Given the description of an element on the screen output the (x, y) to click on. 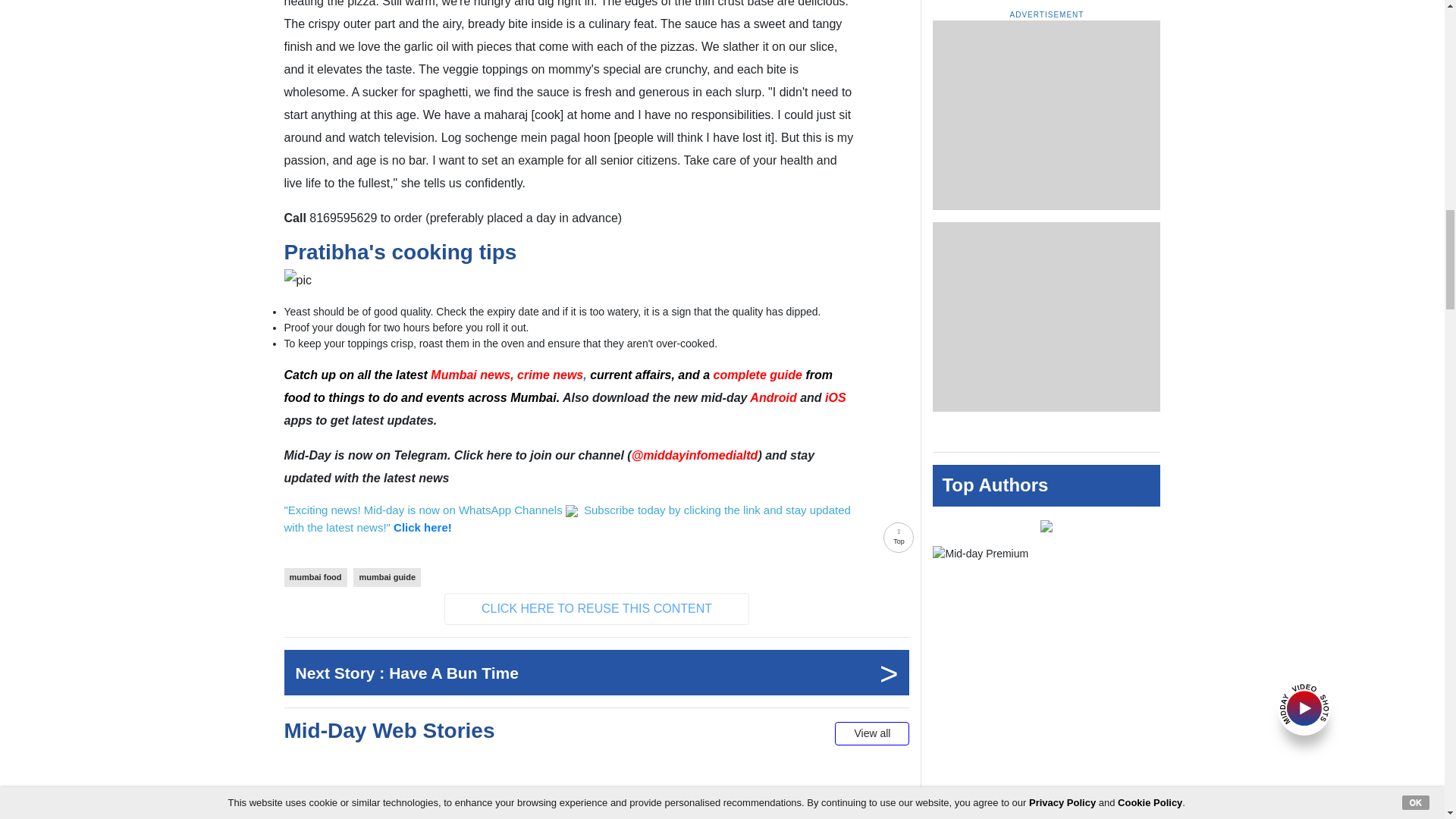
mid-day iOS app (835, 397)
MID-DAY on Telegram (694, 454)
Mumbai News (508, 374)
Mumbai Guide (757, 374)
mid-day android app  (772, 397)
